Given the description of an element on the screen output the (x, y) to click on. 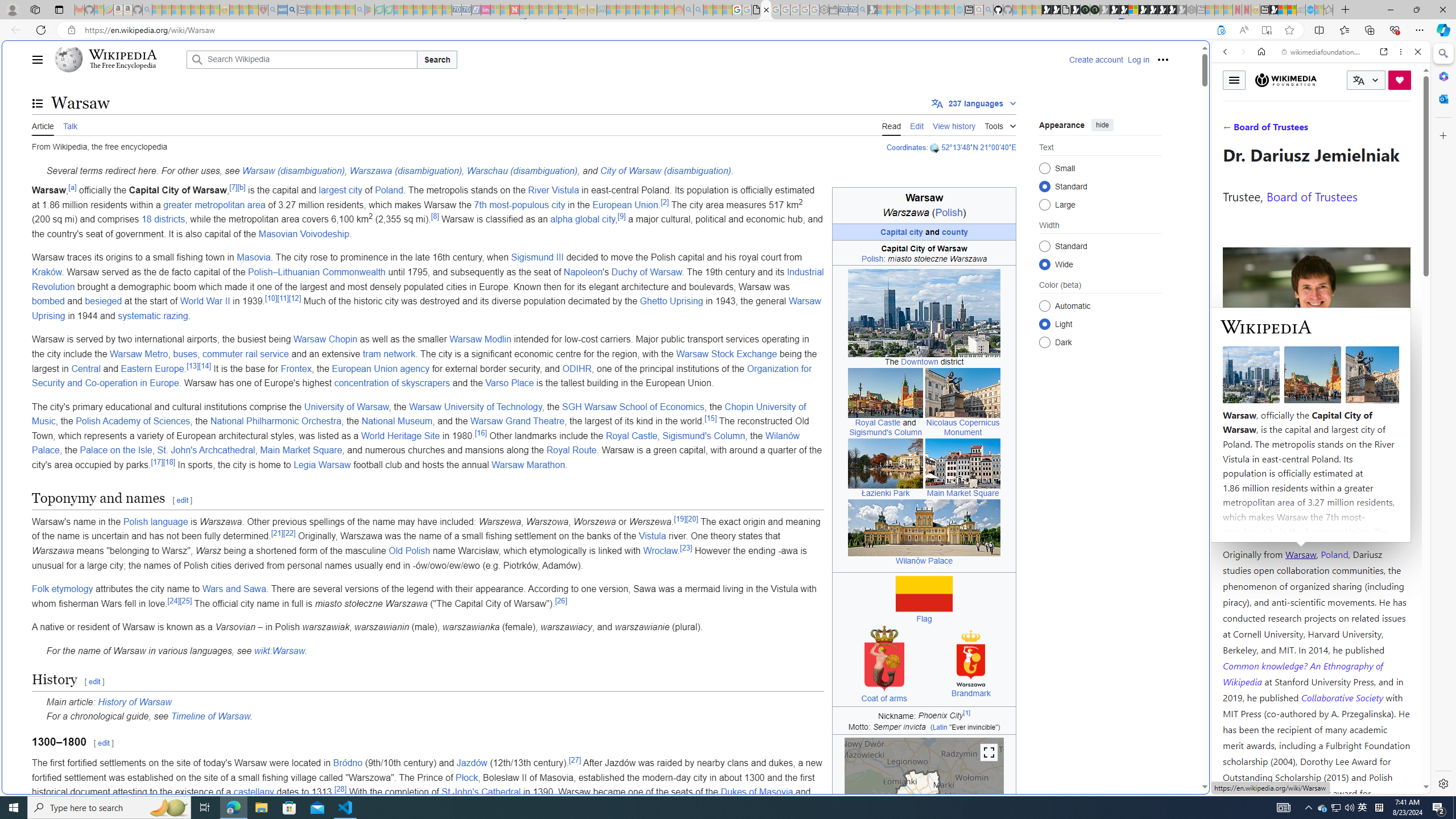
Timeline of Warsaw (210, 716)
[17] (157, 461)
Tools (1000, 124)
Industrial Revolution (428, 278)
concentration of skyscrapers (391, 383)
View history (954, 124)
